Given the description of an element on the screen output the (x, y) to click on. 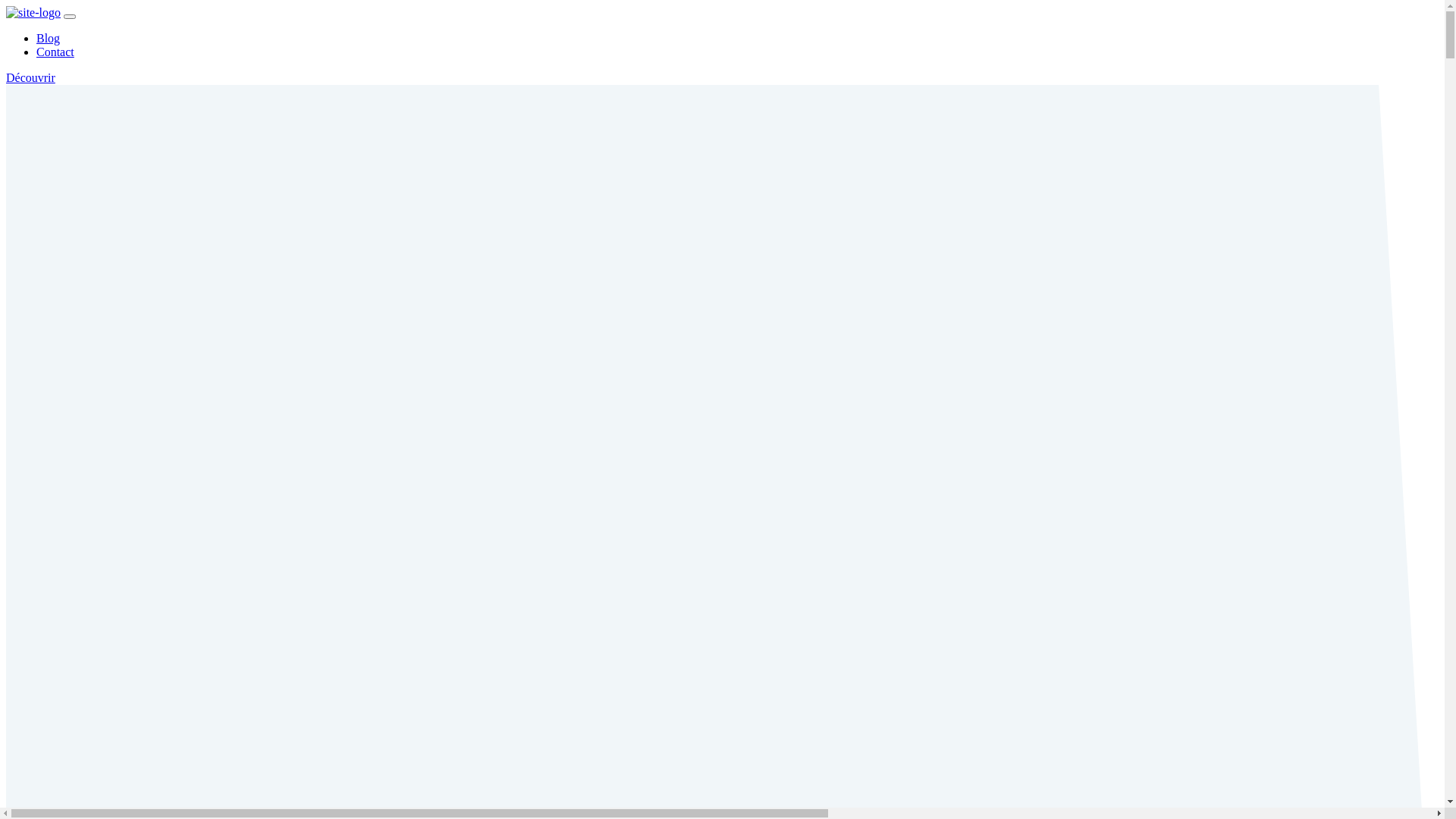
Contact Element type: text (55, 51)
Blog Element type: text (47, 37)
